Given the description of an element on the screen output the (x, y) to click on. 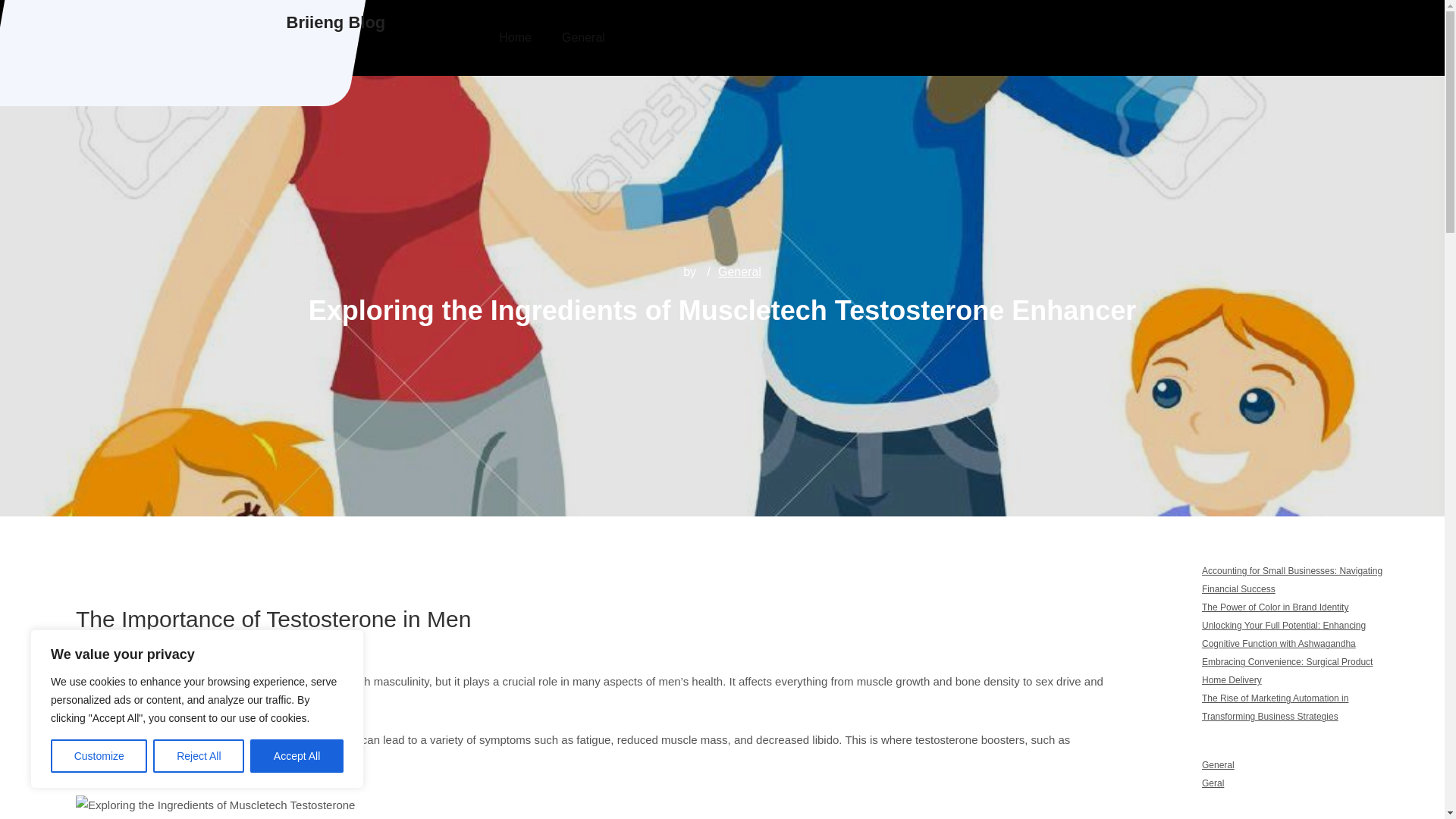
The Power of Color in Brand Identity (1275, 606)
General (1218, 765)
hormone (187, 680)
Geral (1213, 783)
General (739, 271)
Accept All (296, 756)
Briieng Blog (335, 22)
Customize (98, 756)
General (583, 38)
Briieng Blog (335, 22)
Embracing Convenience: Surgical Product Home Delivery (1287, 670)
Reject All (198, 756)
